Given the description of an element on the screen output the (x, y) to click on. 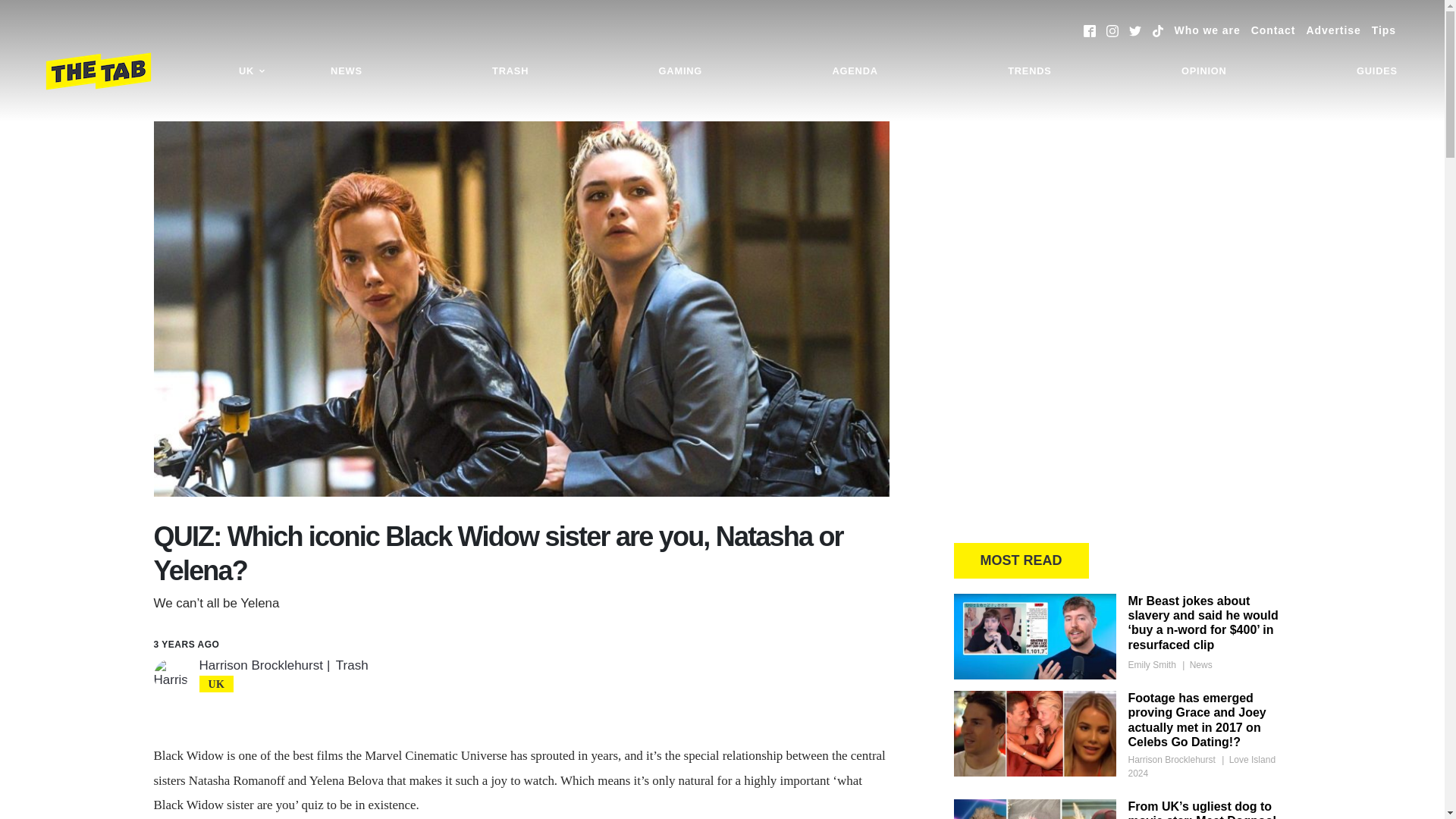
TRENDS (1028, 71)
TRASH (510, 71)
Who we are (1207, 29)
UK (252, 71)
AGENDA (854, 71)
Contact (1272, 29)
Advertise (1332, 29)
GUIDES (1377, 71)
GAMING (680, 71)
NEWS (346, 71)
OPINION (1204, 71)
Tips (1383, 29)
